Given the description of an element on the screen output the (x, y) to click on. 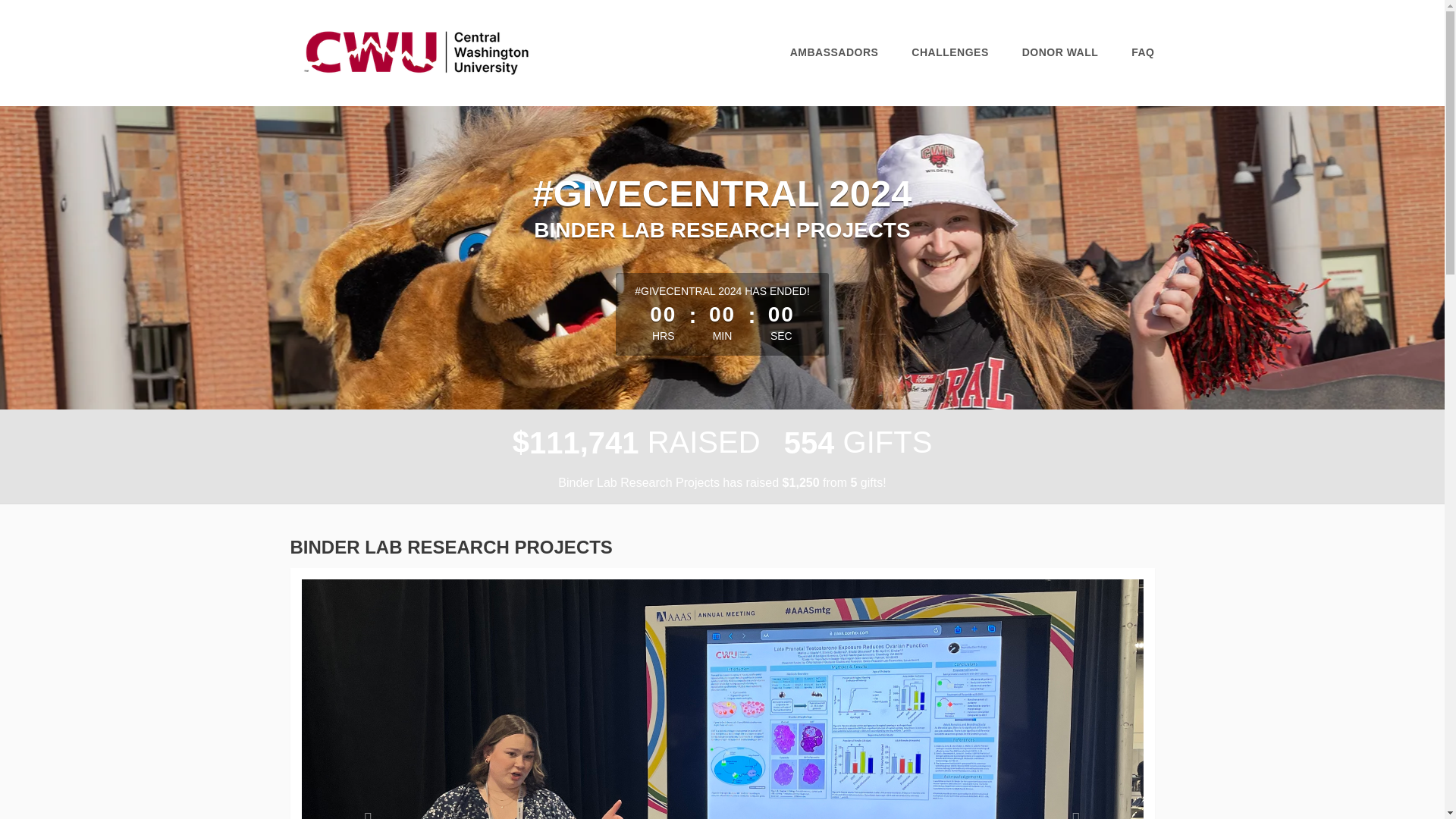
Giving Day Header Logo (415, 51)
CHALLENGES (949, 51)
DONOR WALL (1060, 51)
AMBASSADORS (834, 51)
FAQ (1142, 51)
